Given the description of an element on the screen output the (x, y) to click on. 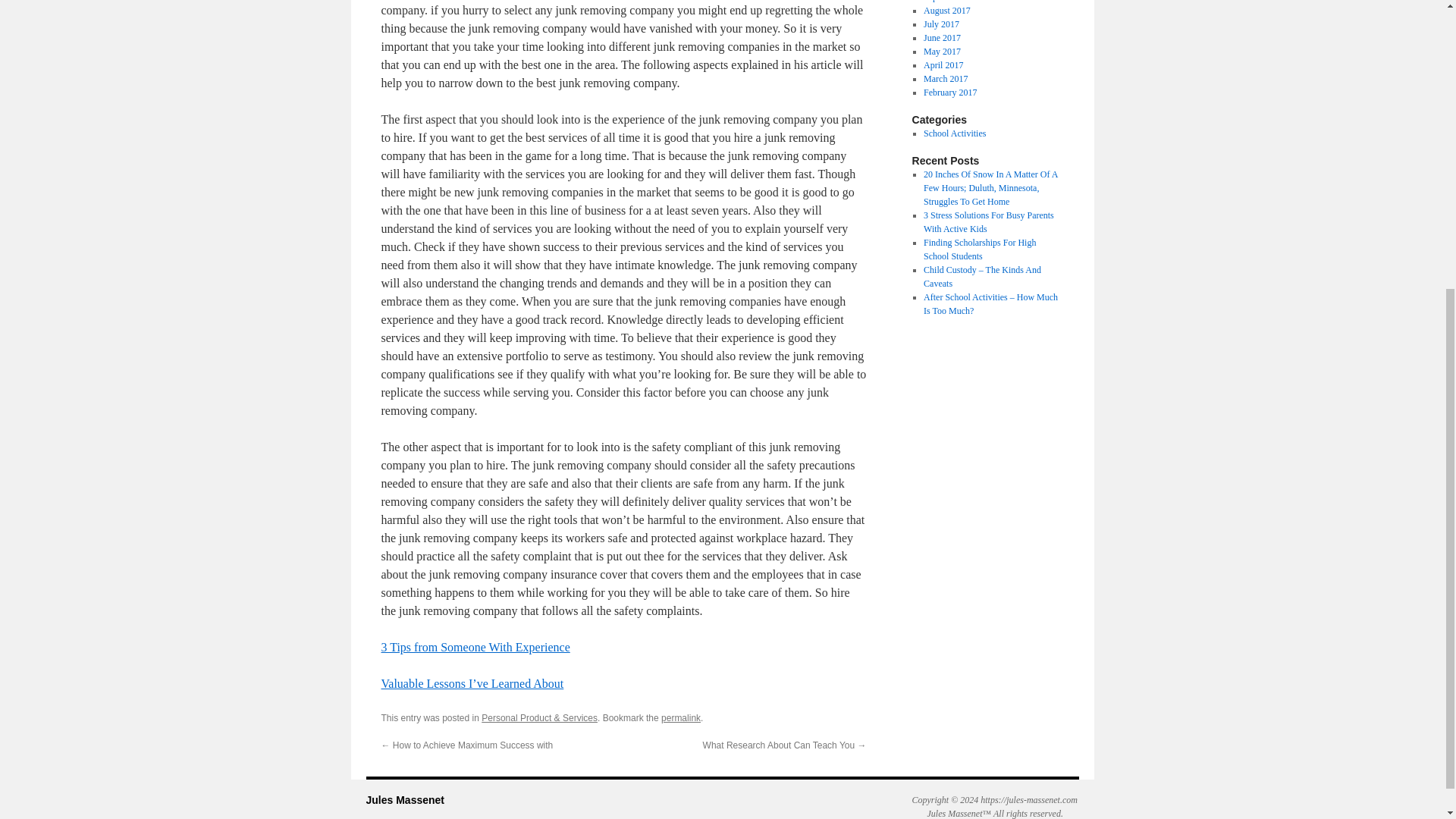
Jules Massenet (404, 799)
3 Stress Solutions For Busy Parents With Active Kids (988, 221)
April 2017 (942, 64)
permalink (680, 717)
March 2017 (945, 78)
May 2017 (941, 50)
August 2017 (947, 9)
June 2017 (941, 37)
School Activities (954, 132)
Permalink to What Research About  Can Teach You (680, 717)
Jules Massenet (404, 799)
3 Tips from Someone With Experience (474, 646)
February 2017 (949, 91)
July 2017 (941, 23)
